Given the description of an element on the screen output the (x, y) to click on. 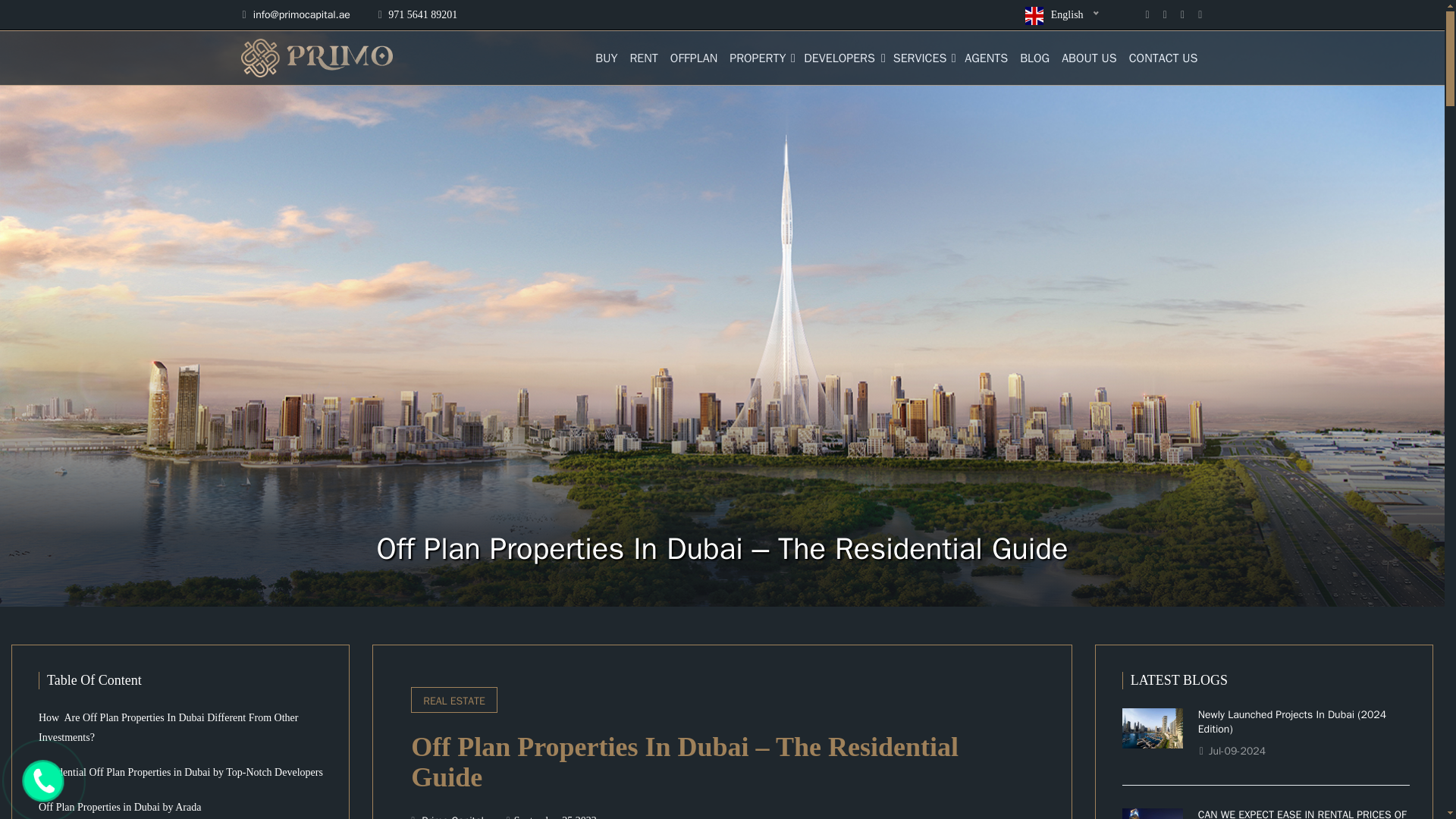
971 5641 89201 (417, 14)
Youtube (1200, 14)
AGENTS (985, 58)
ABOUT US (1088, 58)
Linkedin (1182, 14)
CONTACT US (1163, 58)
OFFPLAN (693, 58)
Instagram (1165, 14)
RENT (643, 58)
SERVICES (922, 58)
Facebook (1146, 14)
DEVELOPERS (841, 58)
BLOG (1034, 58)
BUY (606, 58)
PROPERTY (760, 58)
